Given the description of an element on the screen output the (x, y) to click on. 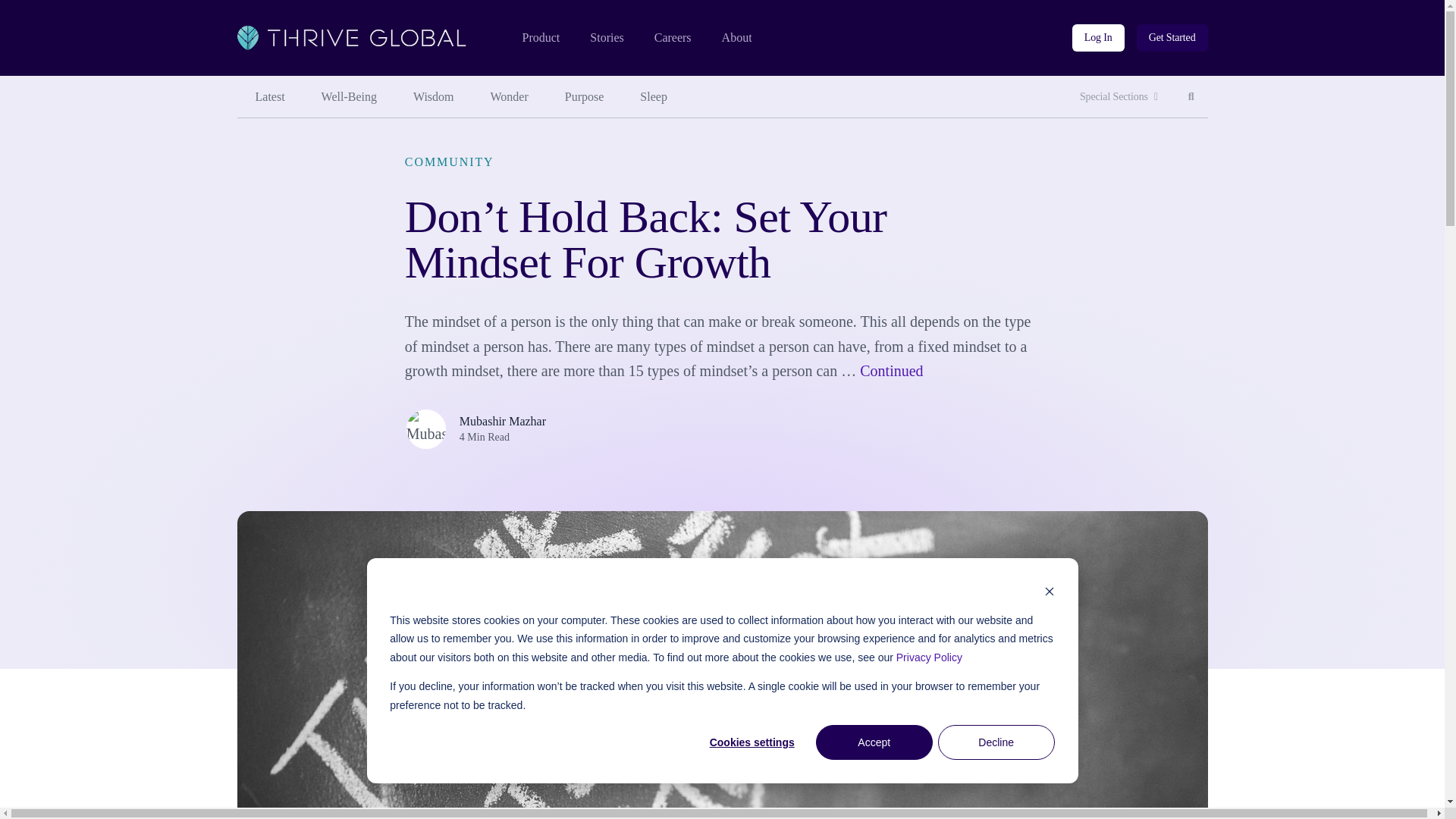
About (737, 37)
Wonder (1191, 97)
Get Started (509, 96)
Product (1172, 37)
Sleep (540, 37)
Latest (653, 96)
Wisdom (268, 96)
Well-Being (432, 96)
Stories (348, 96)
Log In (606, 37)
Purpose (1097, 37)
Careers (585, 96)
Special Sections (672, 37)
